Given the description of an element on the screen output the (x, y) to click on. 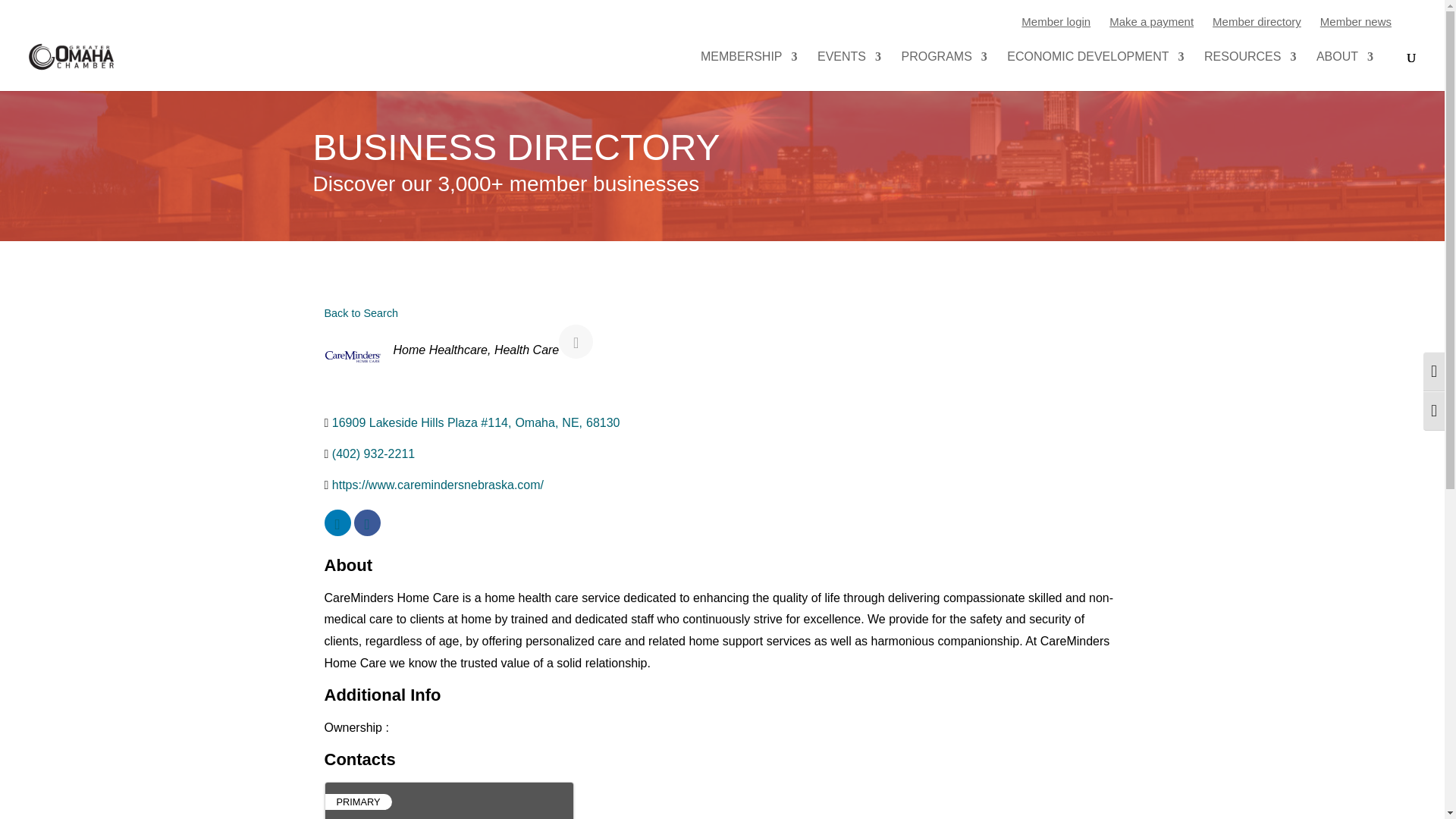
MEMBERSHIP (748, 70)
ECONOMIC DEVELOPMENT (1095, 70)
Member login (1056, 21)
EVENTS (848, 70)
Member news (1355, 21)
Make a payment (1151, 21)
PROGRAMS (944, 70)
Member directory (1256, 21)
